Given the description of an element on the screen output the (x, y) to click on. 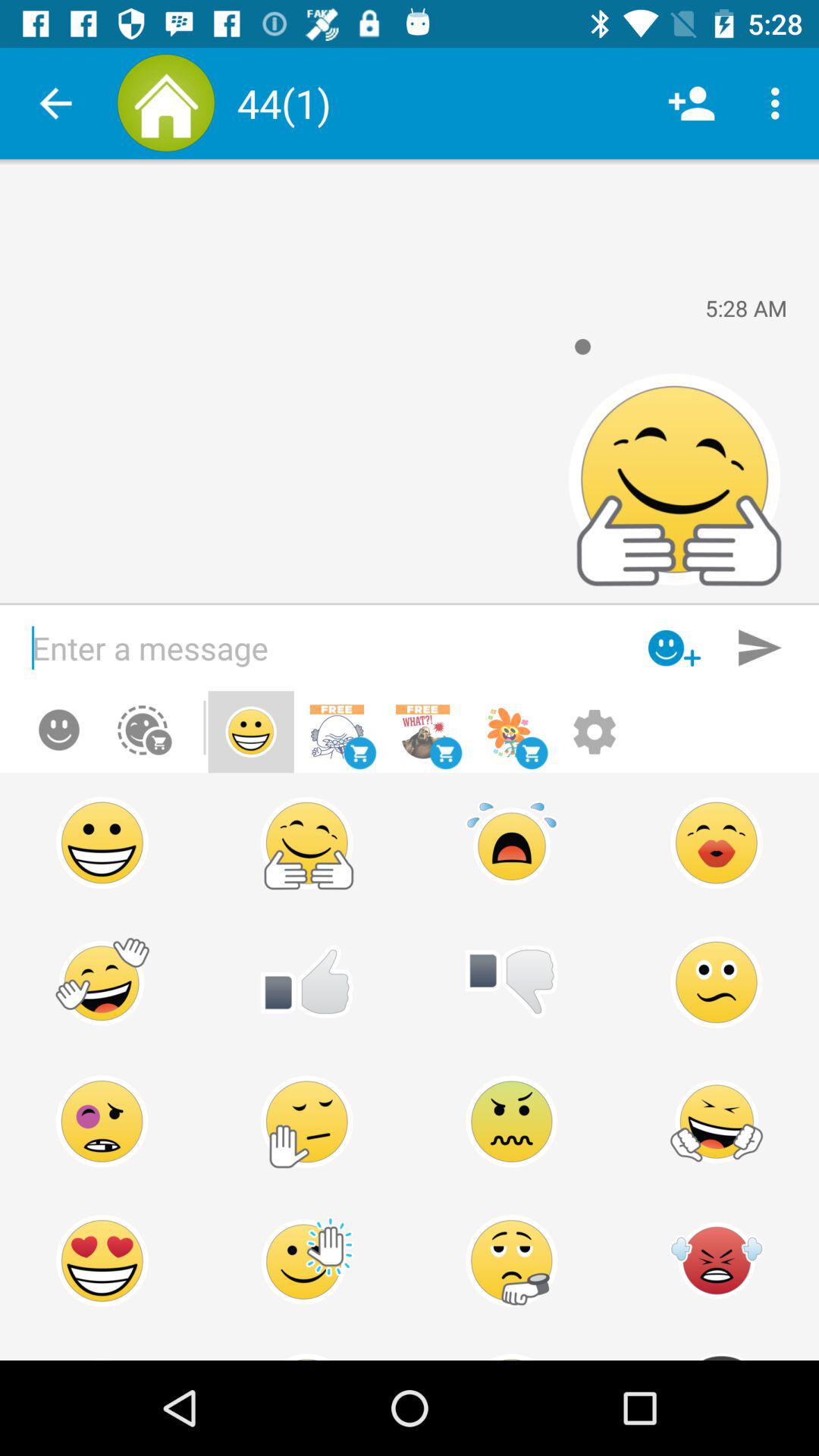
press item to the right of the (1) (691, 103)
